Given the description of an element on the screen output the (x, y) to click on. 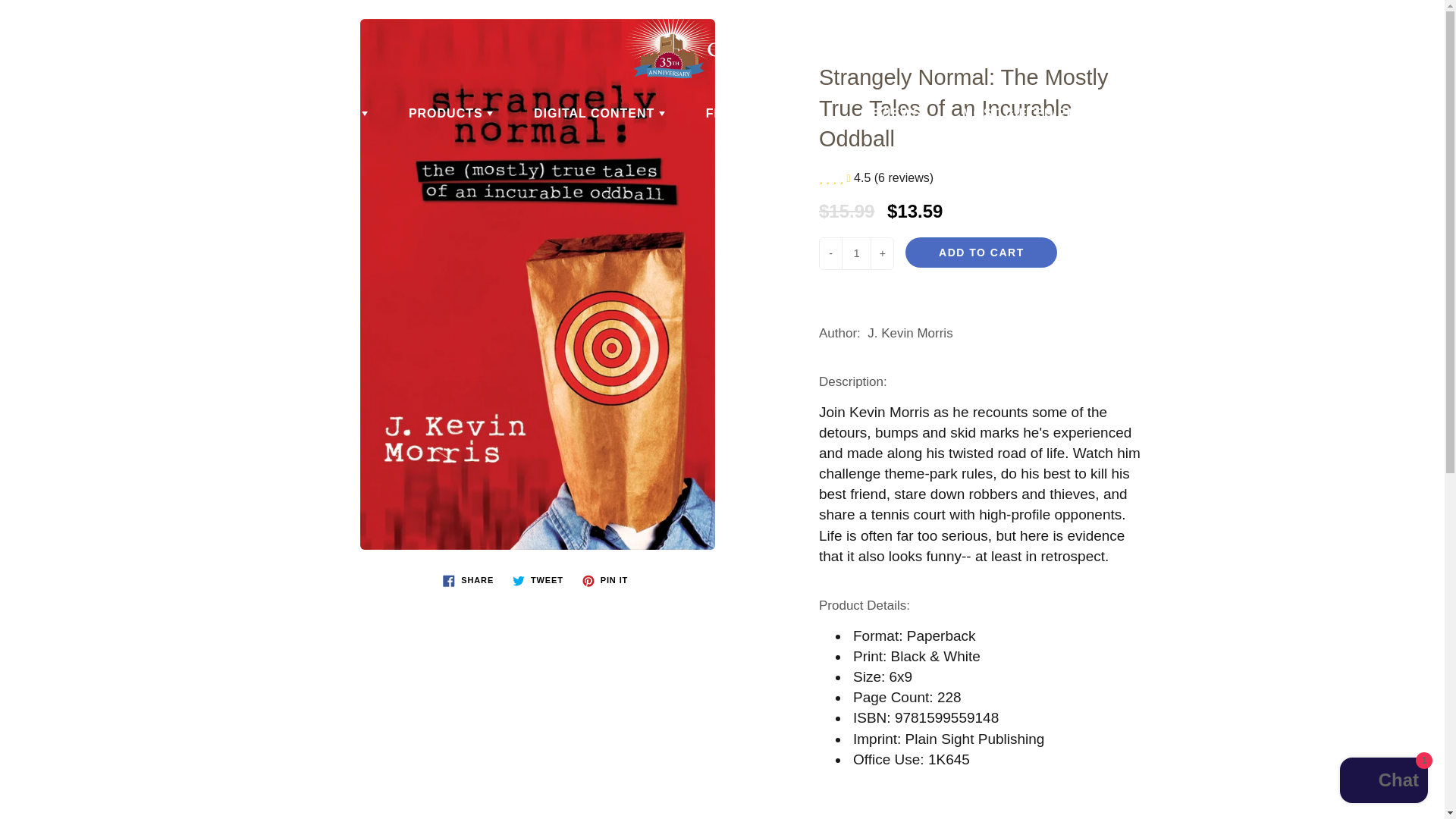
DEALS (340, 113)
Pin on Pinterest (604, 580)
Tweet on Twitter (537, 580)
1 (855, 253)
Share on Facebook (467, 580)
Shopify online store chat (1383, 781)
Search (28, 26)
You have 0 items in your cart (1417, 26)
PRODUCTS (451, 113)
My account (1379, 26)
